Given the description of an element on the screen output the (x, y) to click on. 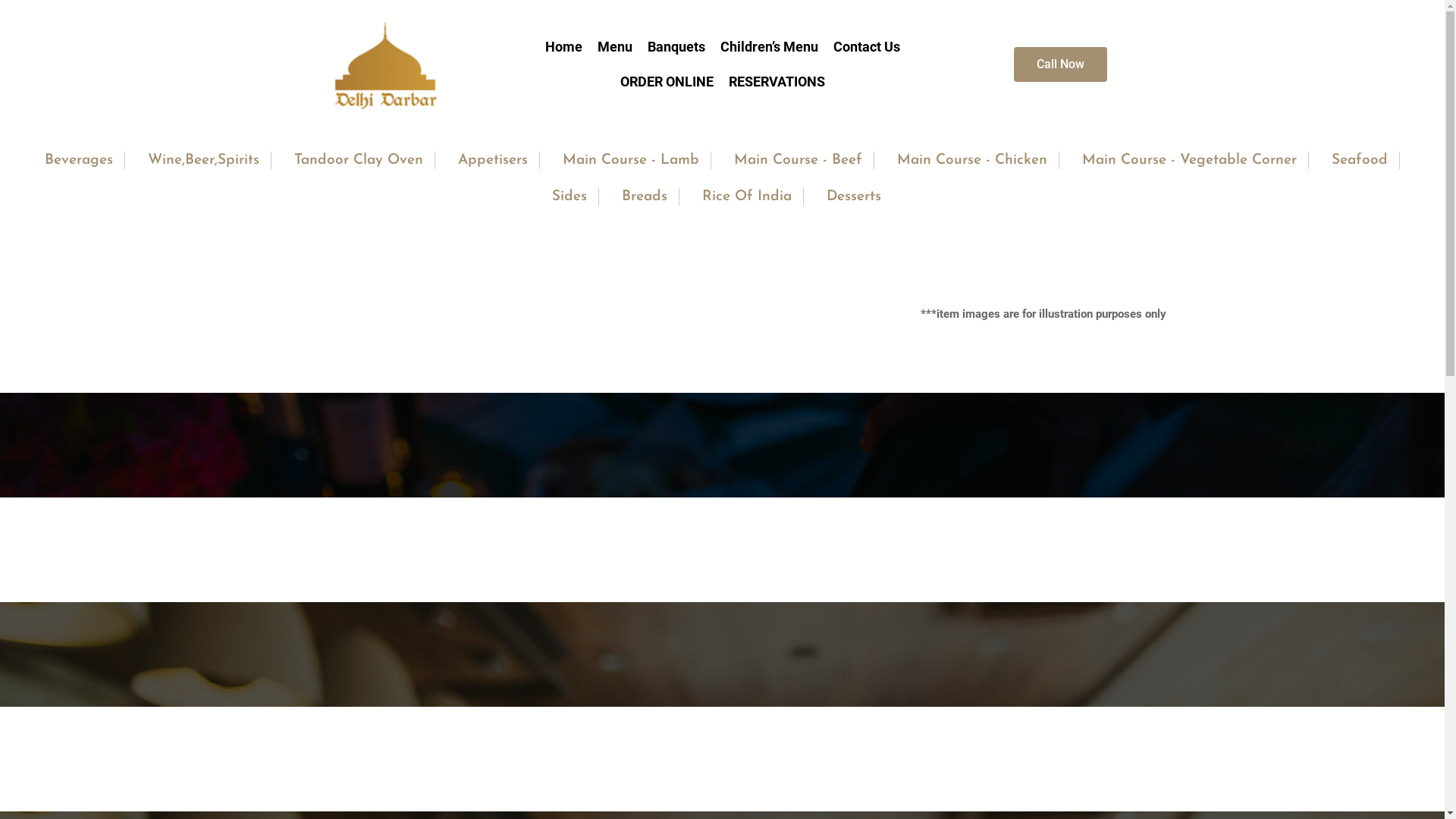
Desserts Element type: text (853, 196)
Sides Element type: text (569, 196)
Menu Element type: text (614, 46)
Home Element type: text (562, 46)
Rice Of India Element type: text (746, 196)
Breads Element type: text (644, 196)
ORDER ONLINE Element type: text (666, 81)
Seafood Element type: text (1359, 160)
Main Course - Chicken Element type: text (972, 160)
Call Now Element type: text (1060, 64)
Main Course - Lamb Element type: text (630, 160)
Main Course - Beef Element type: text (798, 160)
Wine,Beer,Spirits Element type: text (203, 160)
RESERVATIONS Element type: text (775, 81)
Beverages Element type: text (78, 160)
Contact Us Element type: text (865, 46)
Banquets Element type: text (676, 46)
Tandoor Clay Oven Element type: text (358, 160)
Appetisers Element type: text (492, 160)
Main Course - Vegetable Corner Element type: text (1189, 160)
